Given the description of an element on the screen output the (x, y) to click on. 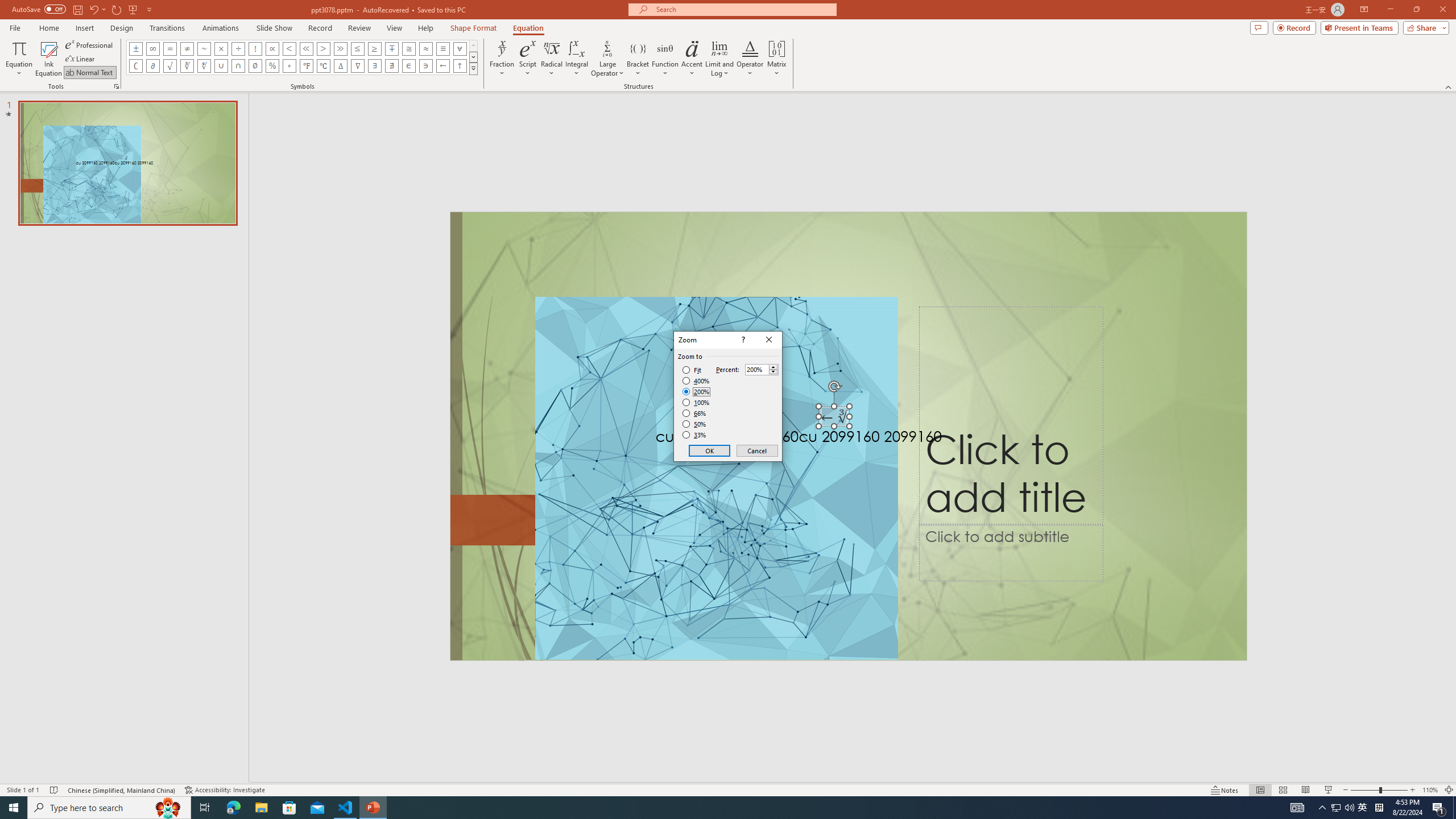
Operator (749, 58)
400% (696, 380)
Ink Equation (48, 58)
Equation Symbol Empty Set (255, 65)
Equation Symbol Complement (136, 65)
Equation Symbol Infinity (152, 48)
